Given the description of an element on the screen output the (x, y) to click on. 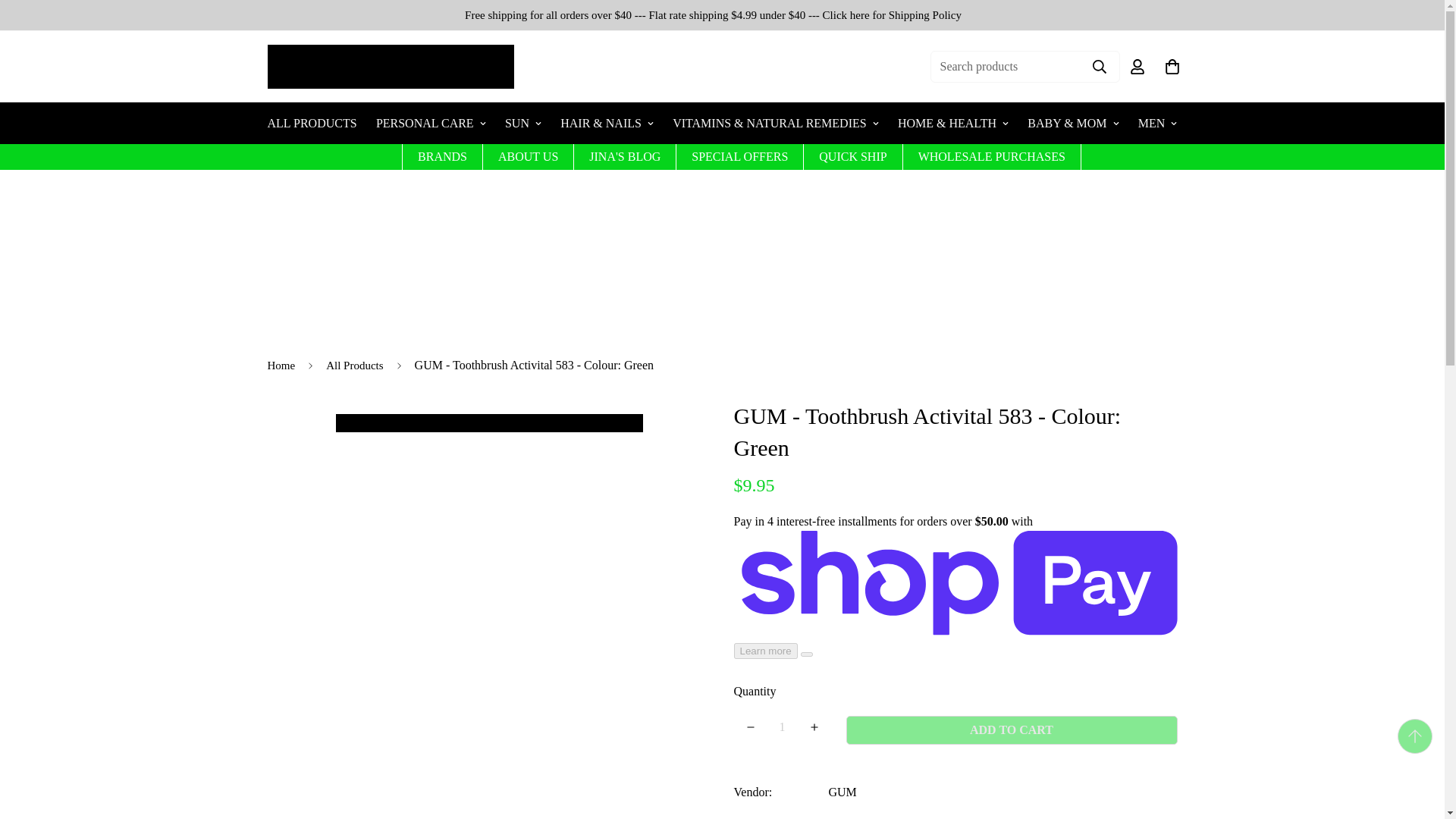
ALL PRODUCTS (311, 123)
Back to the home page (280, 365)
GUM (842, 791)
PERSONAL CARE (430, 123)
Pharmarcie.com (389, 66)
